Given the description of an element on the screen output the (x, y) to click on. 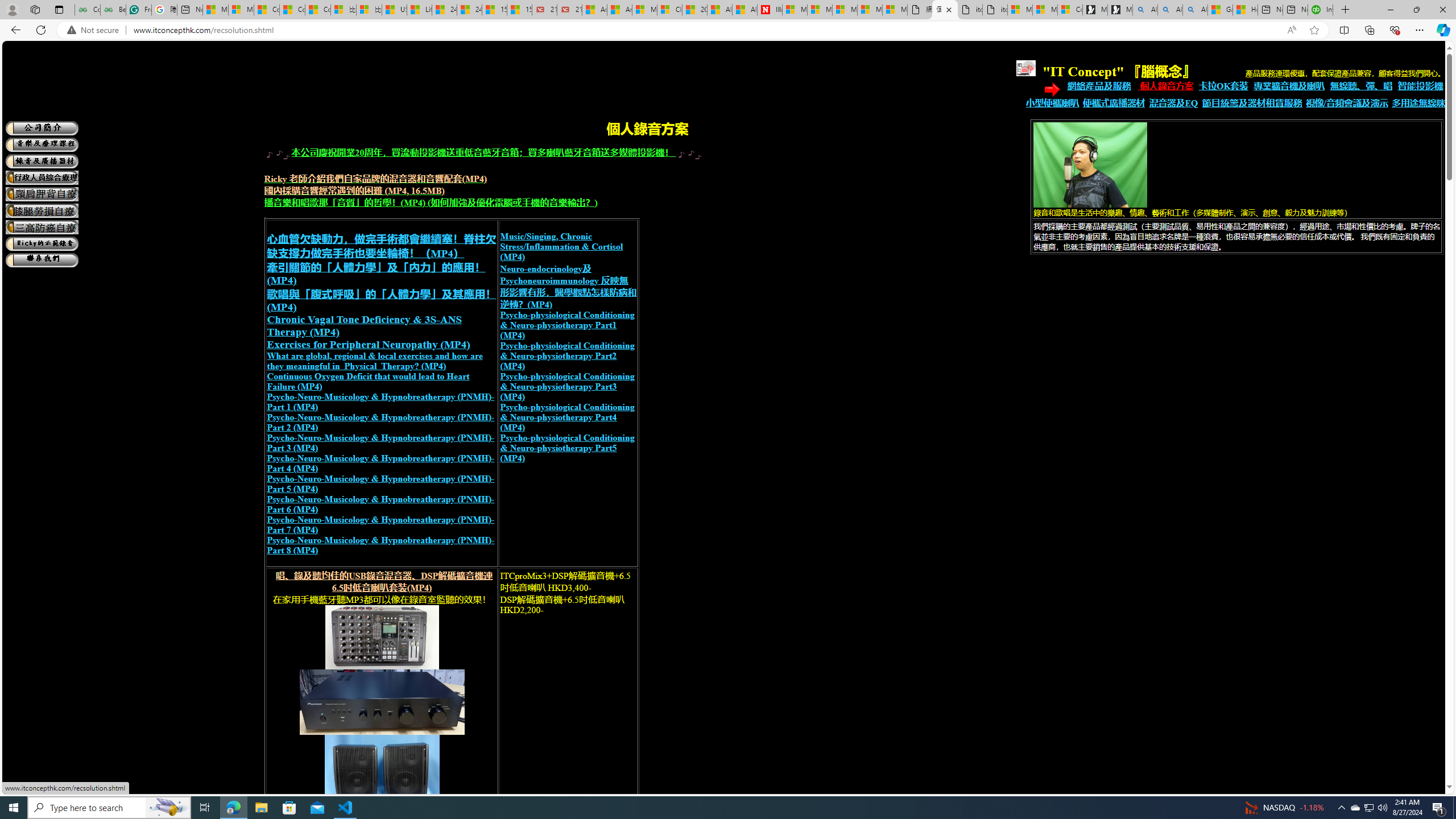
21 Movies That Outdid the Books They Were Based On (568, 9)
15 Ways Modern Life Contradicts the Teachings of Jesus (519, 9)
Alabama high school quarterback dies - Search (1144, 9)
Cloud Computing Services | Microsoft Azure (669, 9)
